Given the description of an element on the screen output the (x, y) to click on. 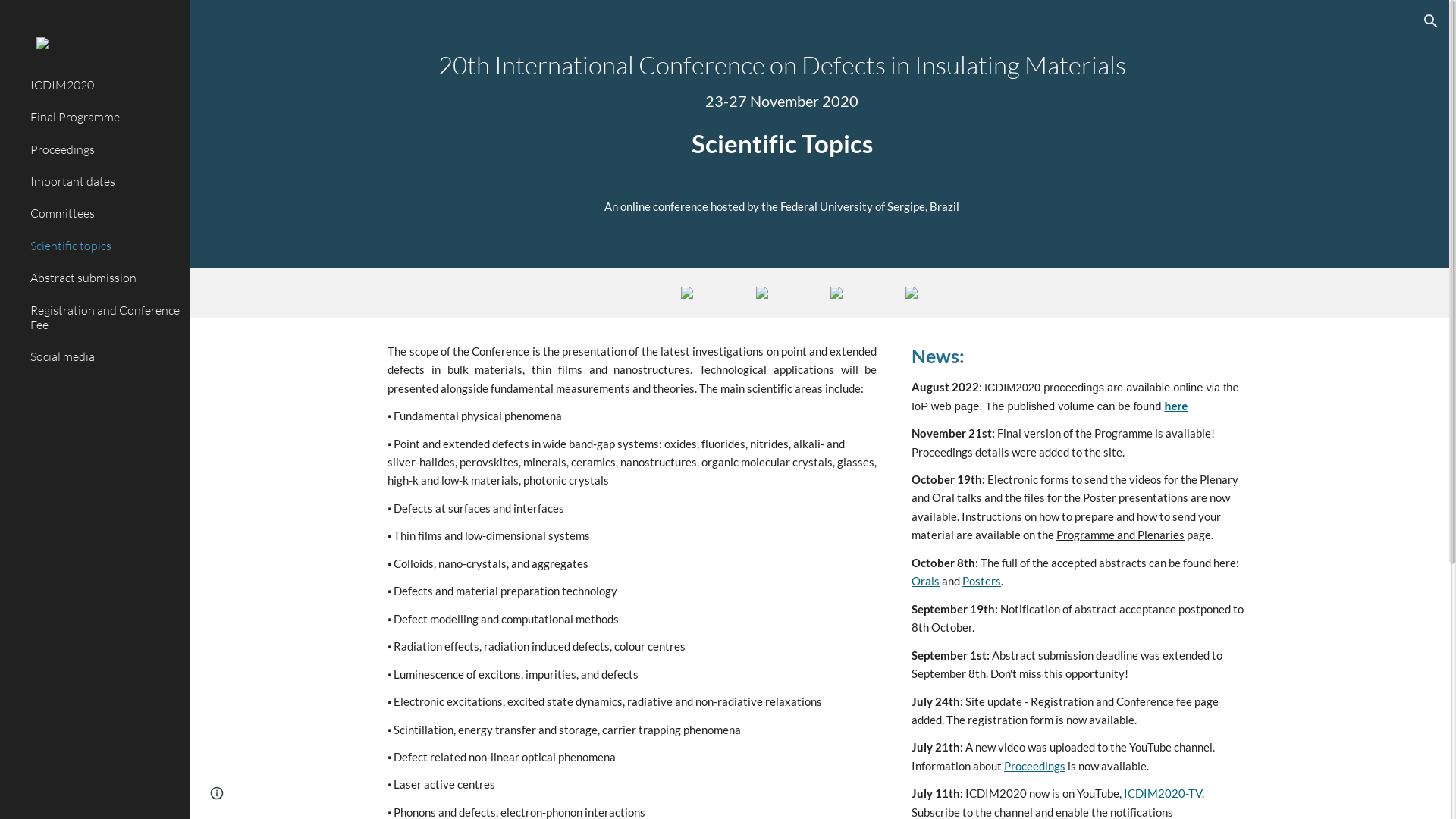
Registration and Conference Fee Element type: text (103, 317)
Final Programme Element type: text (103, 117)
Social media Element type: text (103, 357)
Important dates Element type: text (103, 181)
ICDIM2020-TV Element type: text (1162, 793)
Scientific topics Element type: text (103, 245)
Abstract submission Element type: text (103, 278)
Proceedings Element type: text (103, 149)
Orals Element type: text (925, 580)
Proceedings Element type: text (1034, 765)
here Element type: text (1176, 406)
Committees Element type: text (103, 213)
Posters Element type: text (981, 580)
ICDIM2020 Element type: text (103, 85)
Programme and Plenaries Element type: text (1120, 534)
